Given the description of an element on the screen output the (x, y) to click on. 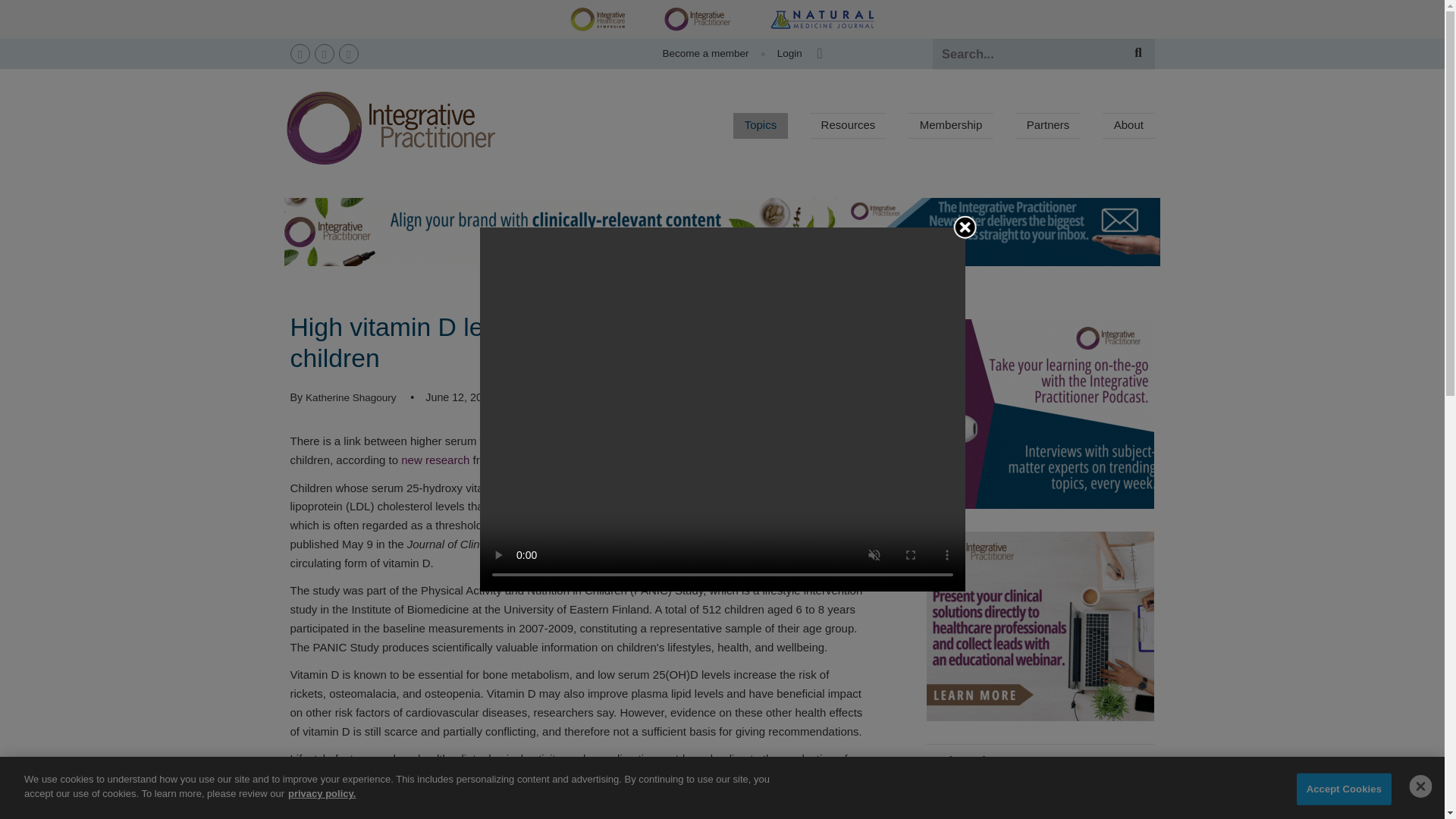
Become a member (705, 52)
Membership (950, 125)
Partners (1047, 125)
Login (783, 52)
Resources (847, 125)
About (1128, 125)
Topics (760, 125)
